Given the description of an element on the screen output the (x, y) to click on. 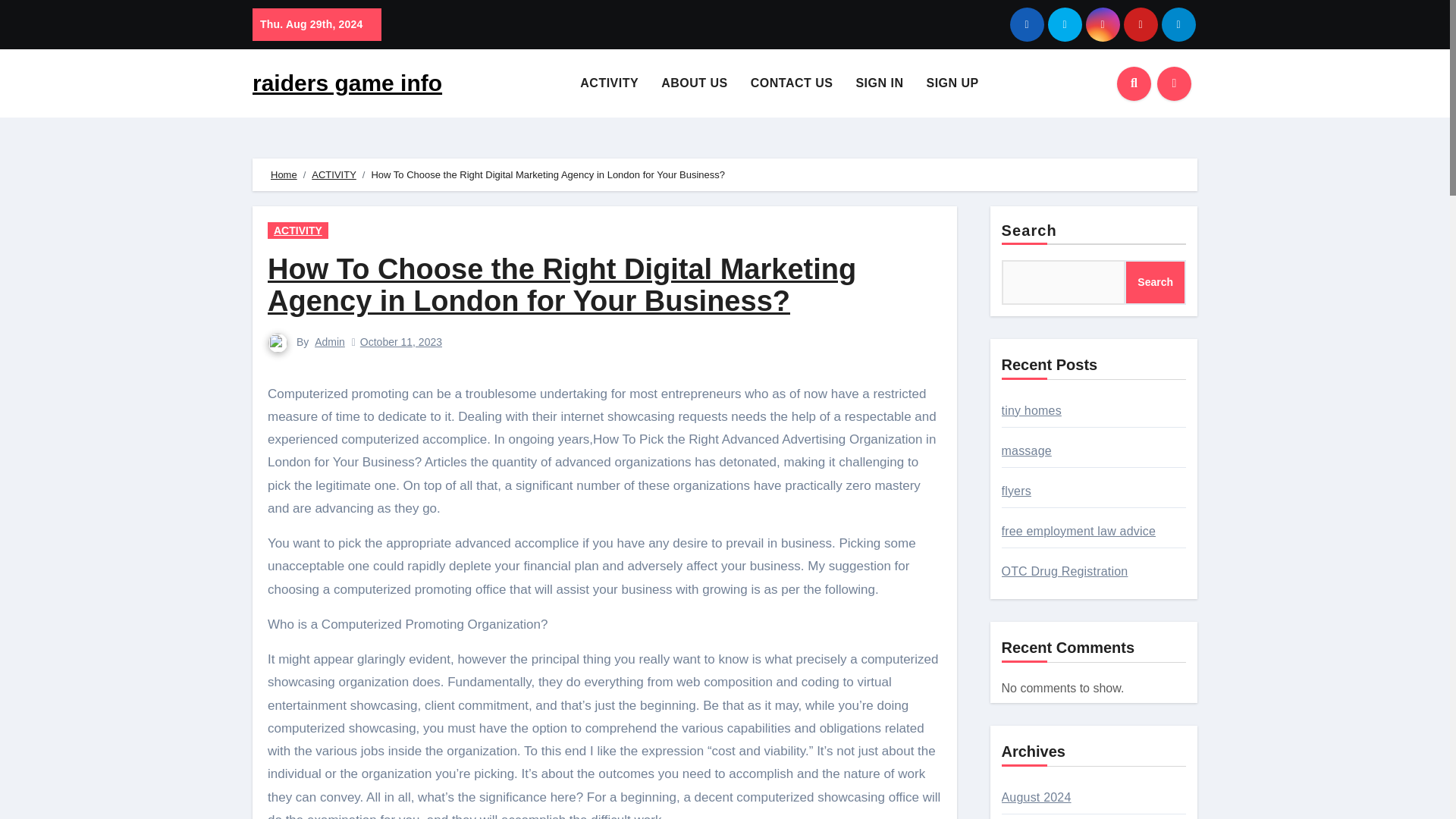
CONTACT US (791, 83)
Home (283, 174)
ABOUT US (694, 83)
Admin (329, 341)
SIGN UP (952, 83)
SIGN UP (952, 83)
ACTIVITY (609, 83)
ABOUT US (694, 83)
CONTACT US (791, 83)
